Given the description of an element on the screen output the (x, y) to click on. 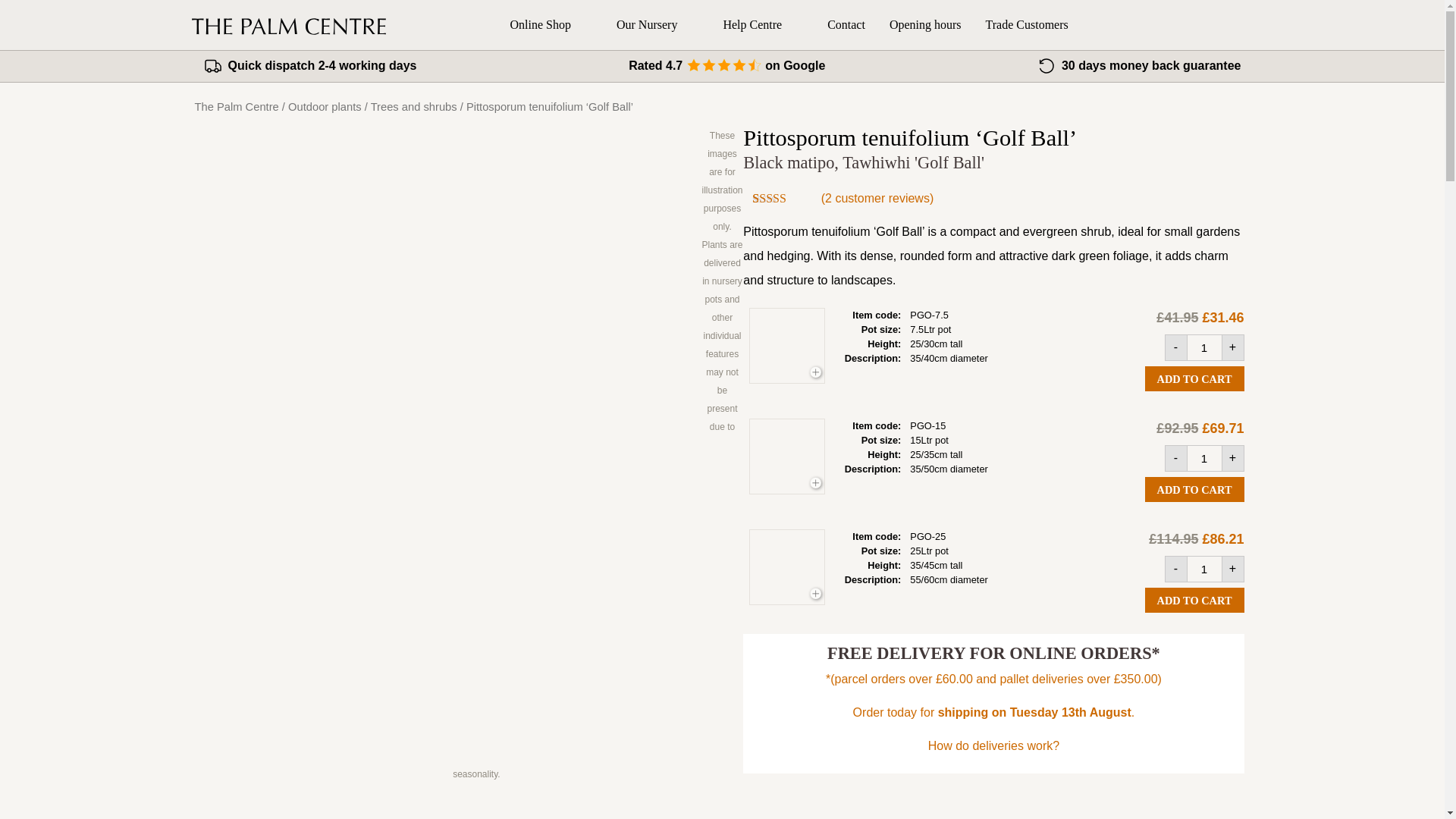
Qty (1204, 347)
Qty (1204, 458)
1 (1204, 347)
Qty (1204, 569)
1 (1204, 569)
Online Shop (550, 24)
stars4.5 (723, 66)
1 (1204, 458)
